Given the description of an element on the screen output the (x, y) to click on. 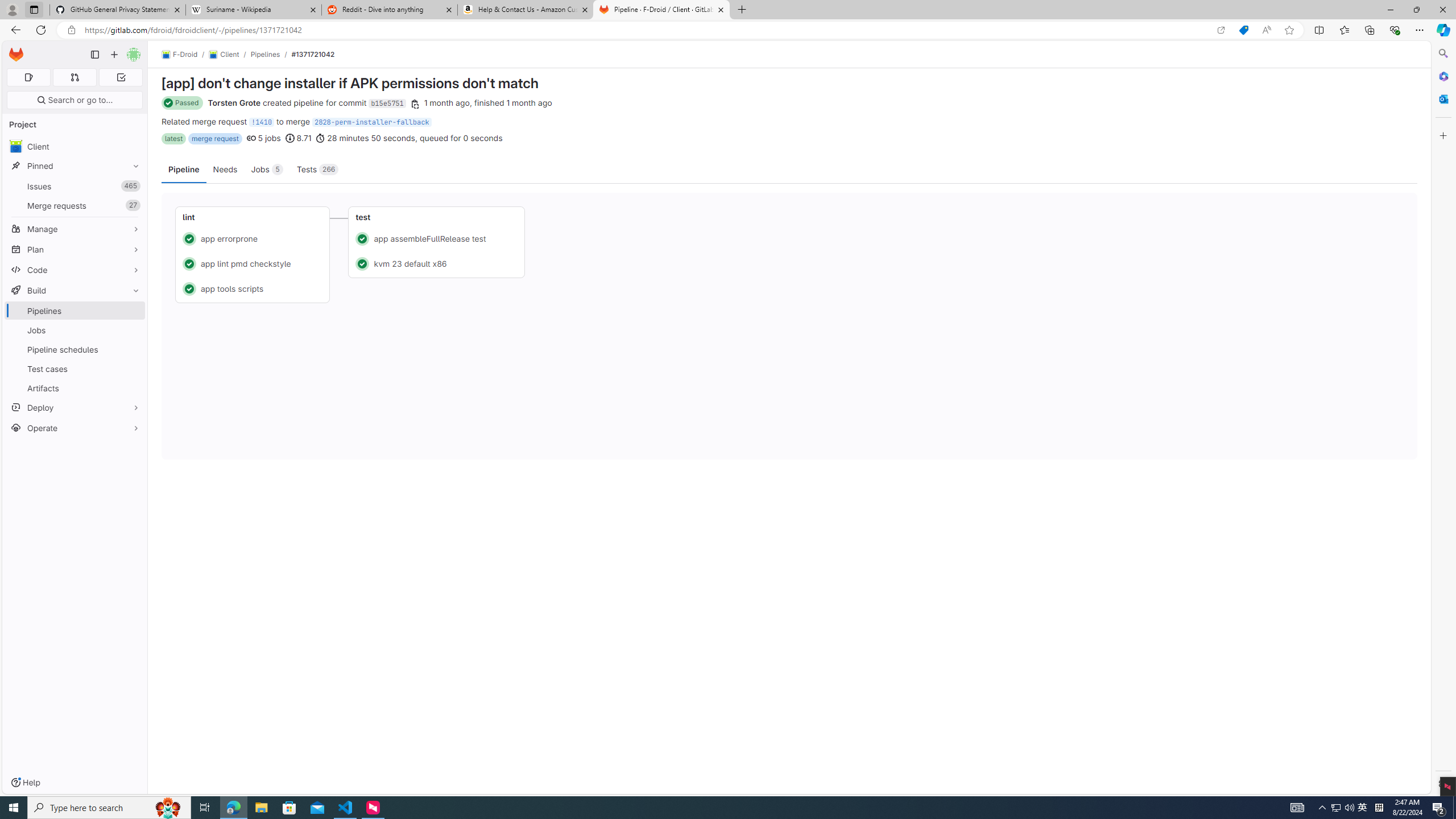
Pin Pipelines (132, 310)
Issues465 (74, 185)
Plan (74, 248)
!1410 (261, 121)
Copy commit SHA (414, 103)
Primary navigation sidebar (94, 54)
Test cases (74, 368)
2828-perm-installer-fallback (370, 121)
Pin Test cases (132, 368)
Suriname - Wikipedia (253, 9)
Artifacts (74, 387)
